Given the description of an element on the screen output the (x, y) to click on. 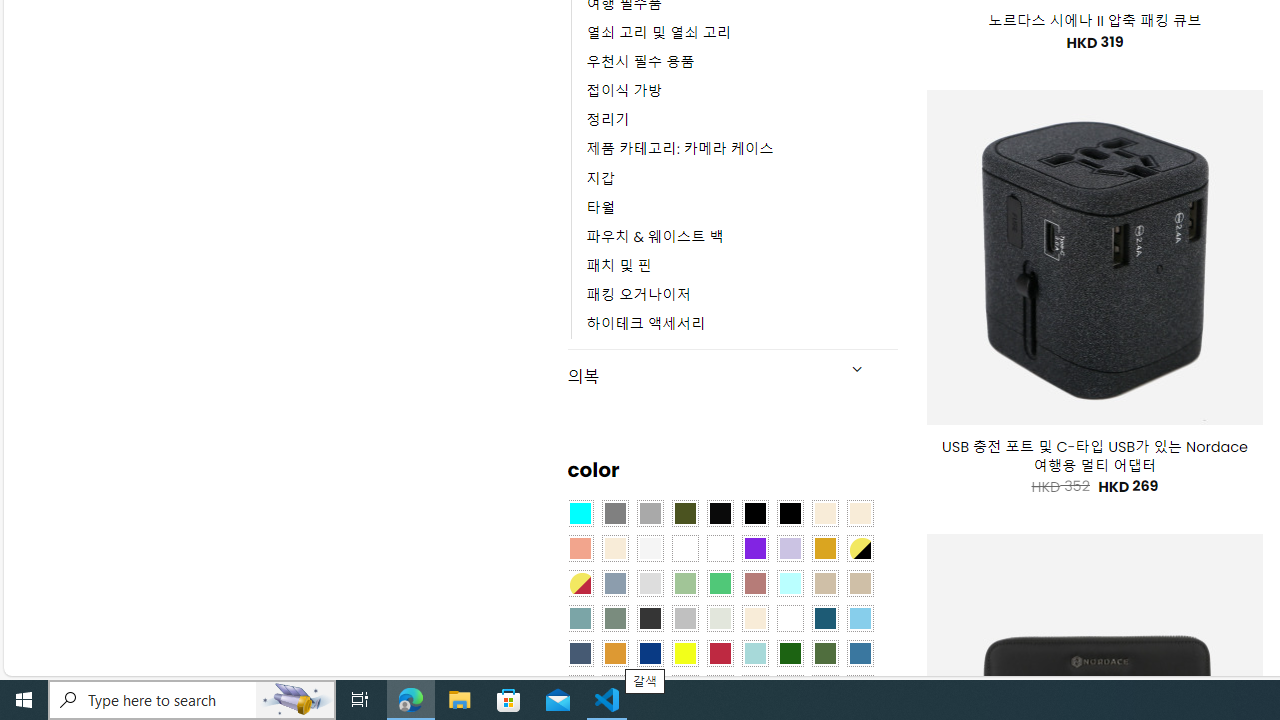
Cream (614, 548)
